Given the description of an element on the screen output the (x, y) to click on. 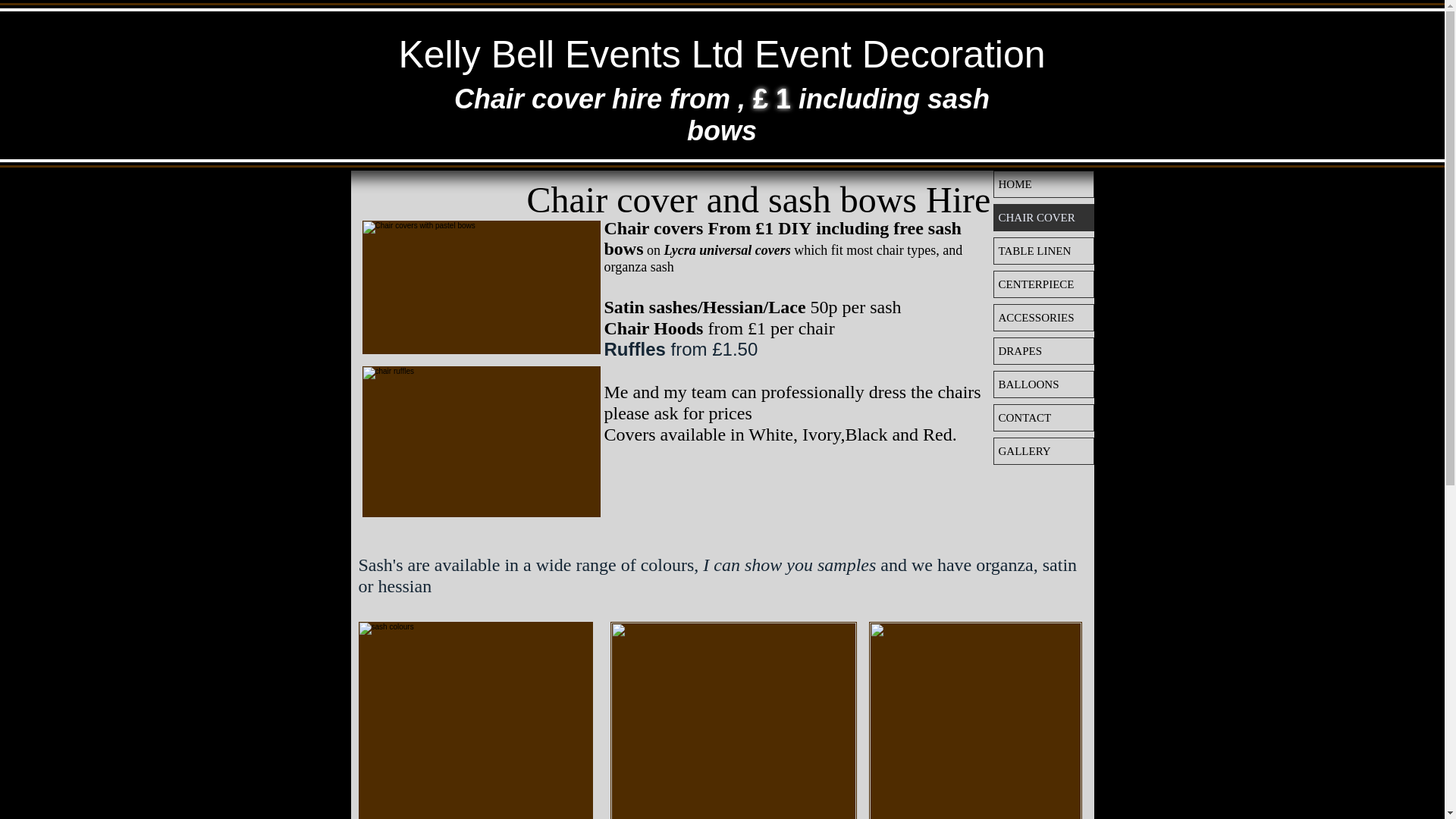
BALLOONS (1042, 384)
chairs.jpg (733, 720)
CONTACT (1042, 417)
ACCESSORIES (1042, 317)
HOME (1042, 184)
CENTERPIECE (1042, 284)
CHAIR COVER (1042, 217)
GALLERY (1042, 451)
TABLE LINEN (1042, 250)
DRAPES (1042, 350)
